Given the description of an element on the screen output the (x, y) to click on. 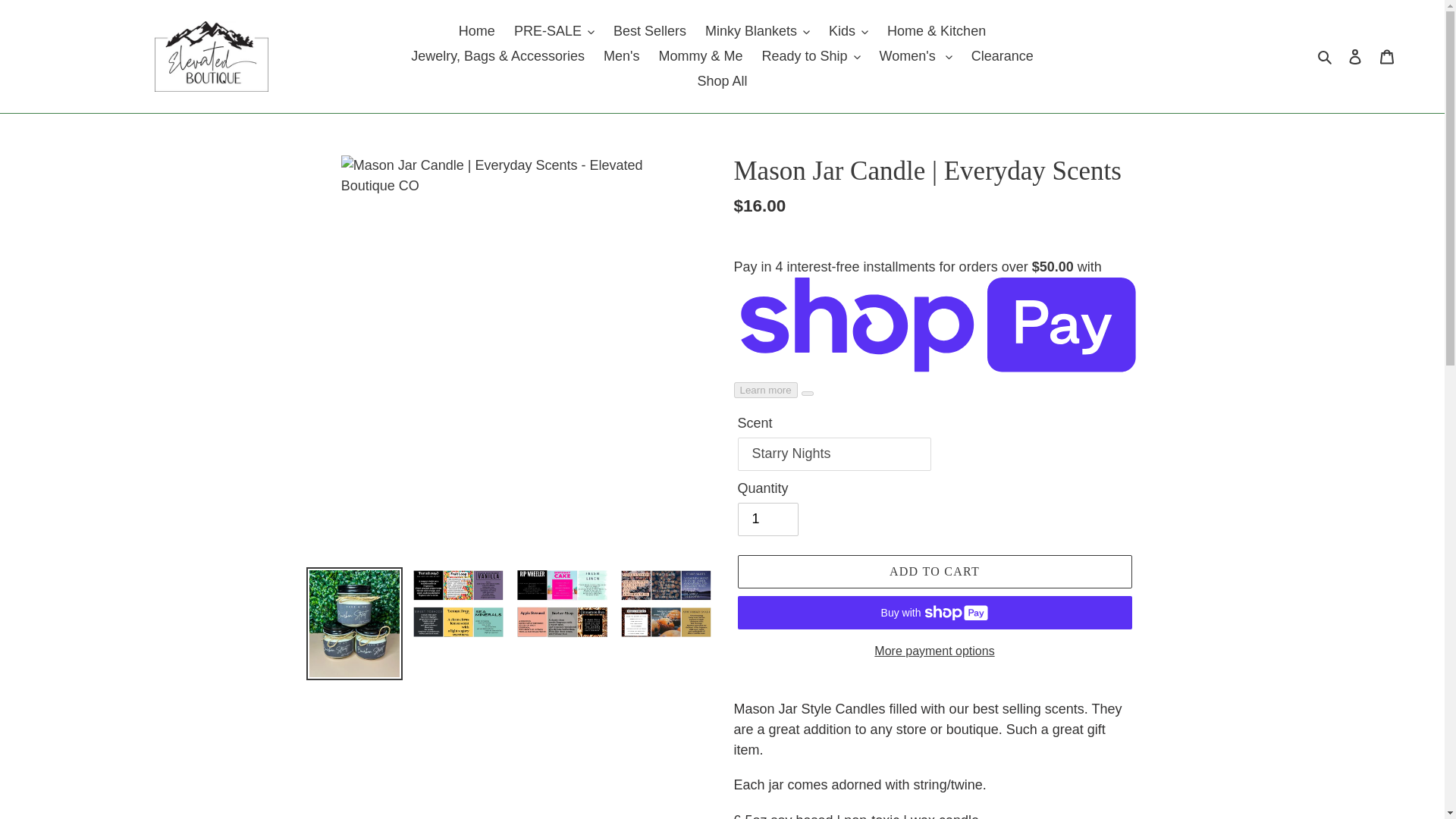
Best Sellers (649, 31)
Clearance (1002, 56)
PRE-SALE (554, 31)
1 (766, 519)
Home (476, 31)
Minky Blankets (756, 31)
Kids (848, 31)
Men's (620, 56)
Ready to Ship (810, 56)
Women's (915, 56)
